Given the description of an element on the screen output the (x, y) to click on. 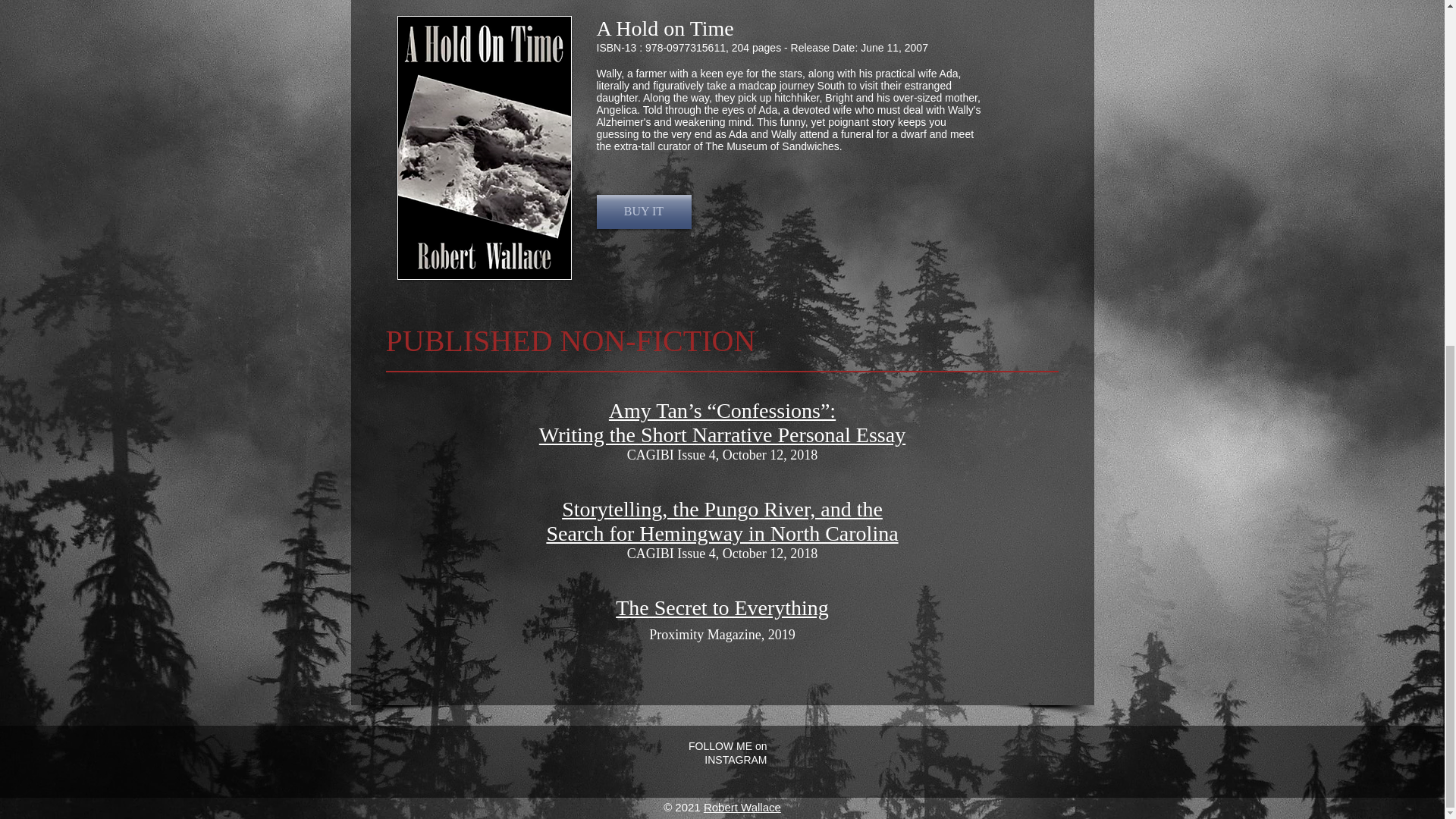
Writing the Short Narrative Personal Essay (721, 434)
Search for Hemingway in North Carolina (722, 533)
The Secret to Everything (721, 607)
Robert Wallace (741, 807)
BUY IT (642, 211)
Storytelling, the Pungo River, and the (722, 508)
